Given the description of an element on the screen output the (x, y) to click on. 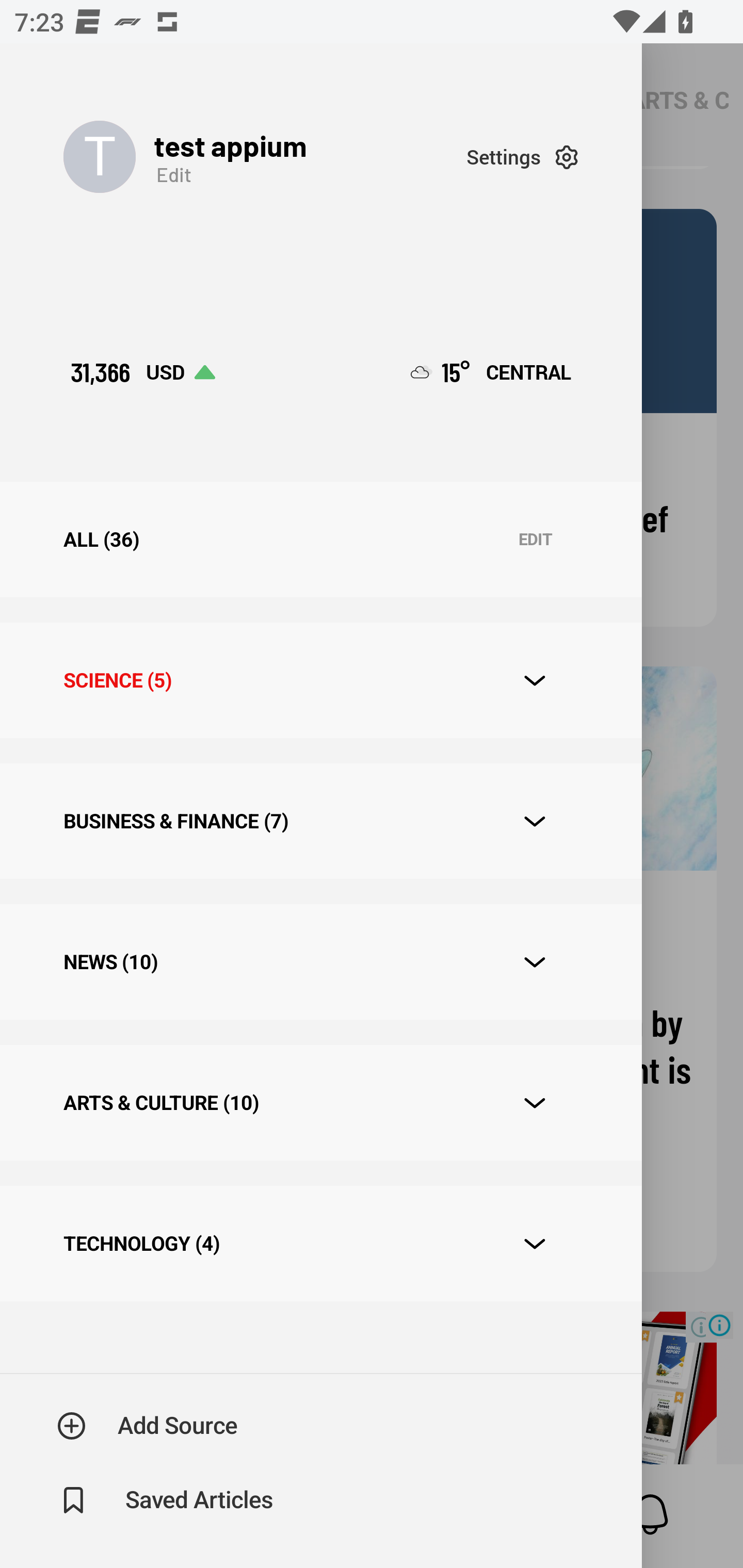
T test appium Edit (264, 156)
Settings Select News Style (522, 156)
31,366 USD Current State of the Currency (142, 372)
Current State of the Weather 15° CENTRAL (490, 372)
ALL  (36) EDIT (320, 539)
EDIT (534, 540)
SCIENCE  (5) Expand Button (320, 680)
Expand Button (534, 681)
BUSINESS & FINANCE  (7) Expand Button (320, 821)
Expand Button (534, 821)
NEWS  (10) Expand Button (320, 961)
Expand Button (534, 961)
ARTS & CULTURE  (10) Expand Button (320, 1102)
Expand Button (534, 1102)
TECHNOLOGY  (4) Expand Button (320, 1243)
Expand Button (534, 1244)
Open Content Store Add Source (147, 1425)
Open Saved News  Saved Articles (166, 1500)
